Given the description of an element on the screen output the (x, y) to click on. 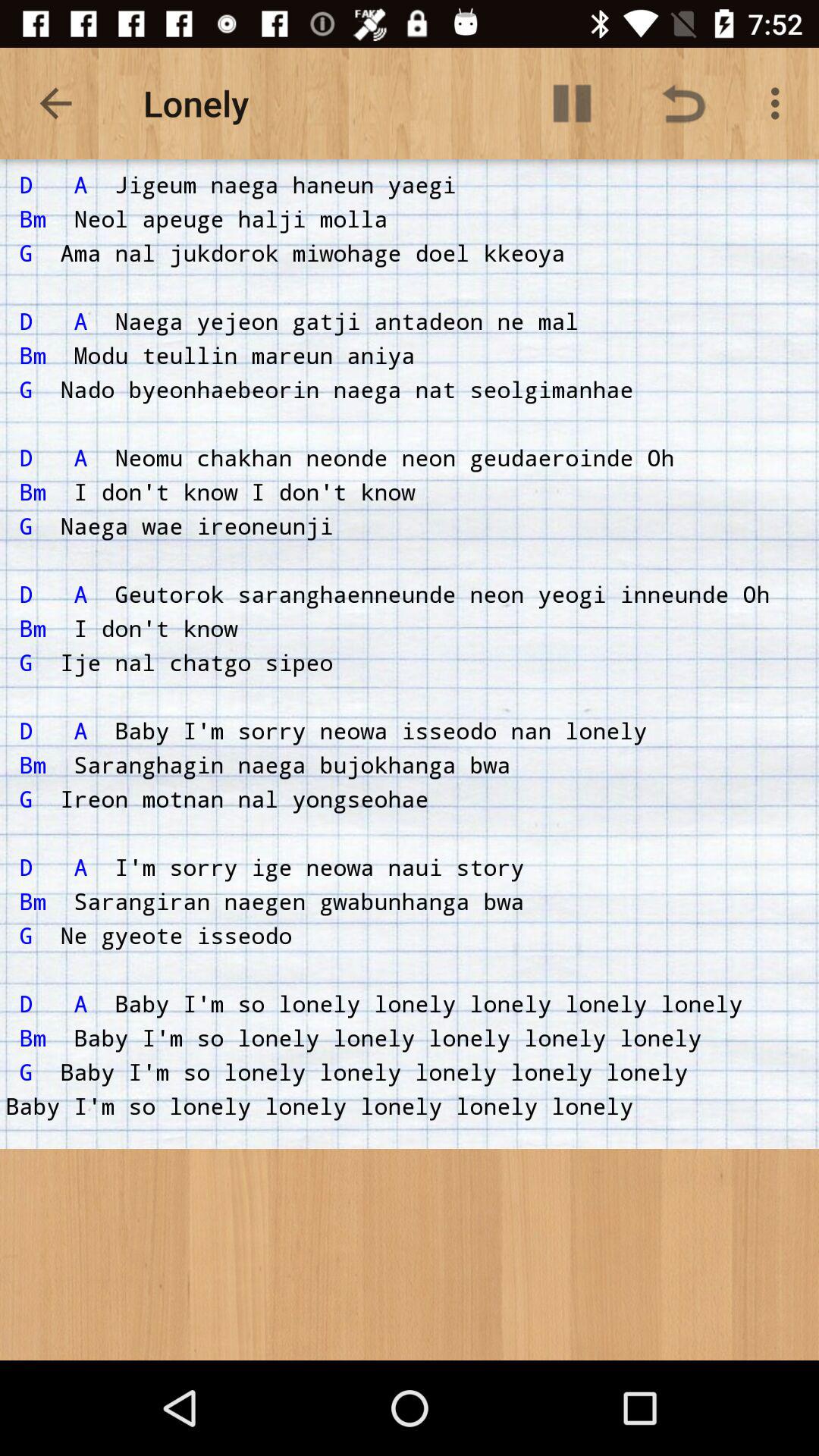
open item next to lonely item (55, 103)
